Given the description of an element on the screen output the (x, y) to click on. 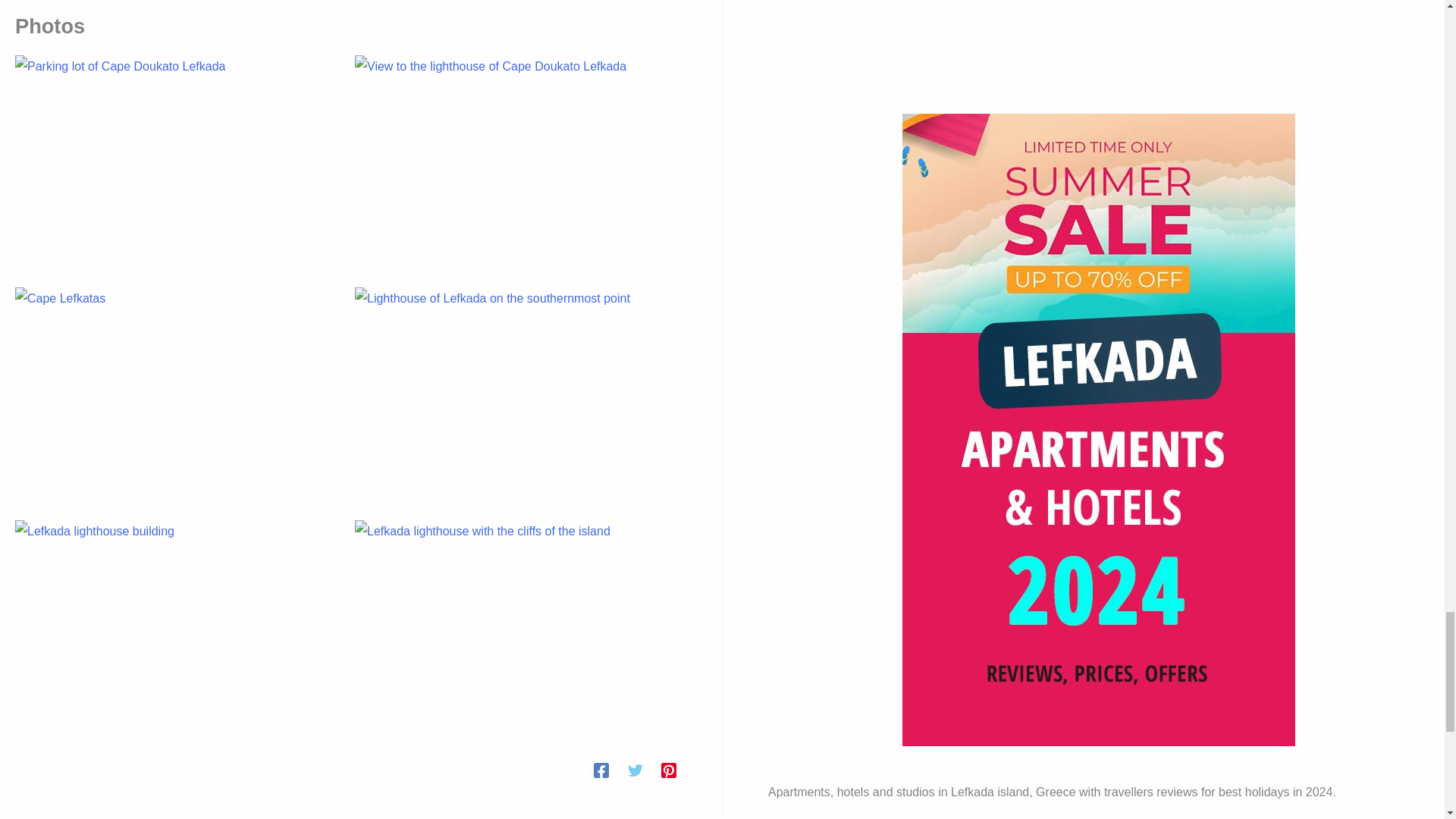
Lefkada lighthouse (175, 626)
Cape Doukato, Lefkada (516, 162)
Parking lot of Cape Doukato Lefkada (175, 162)
Cape Lefkatas (175, 394)
Lefkada lighthouse (516, 626)
Lighthouse in Lefkada (516, 394)
